Given the description of an element on the screen output the (x, y) to click on. 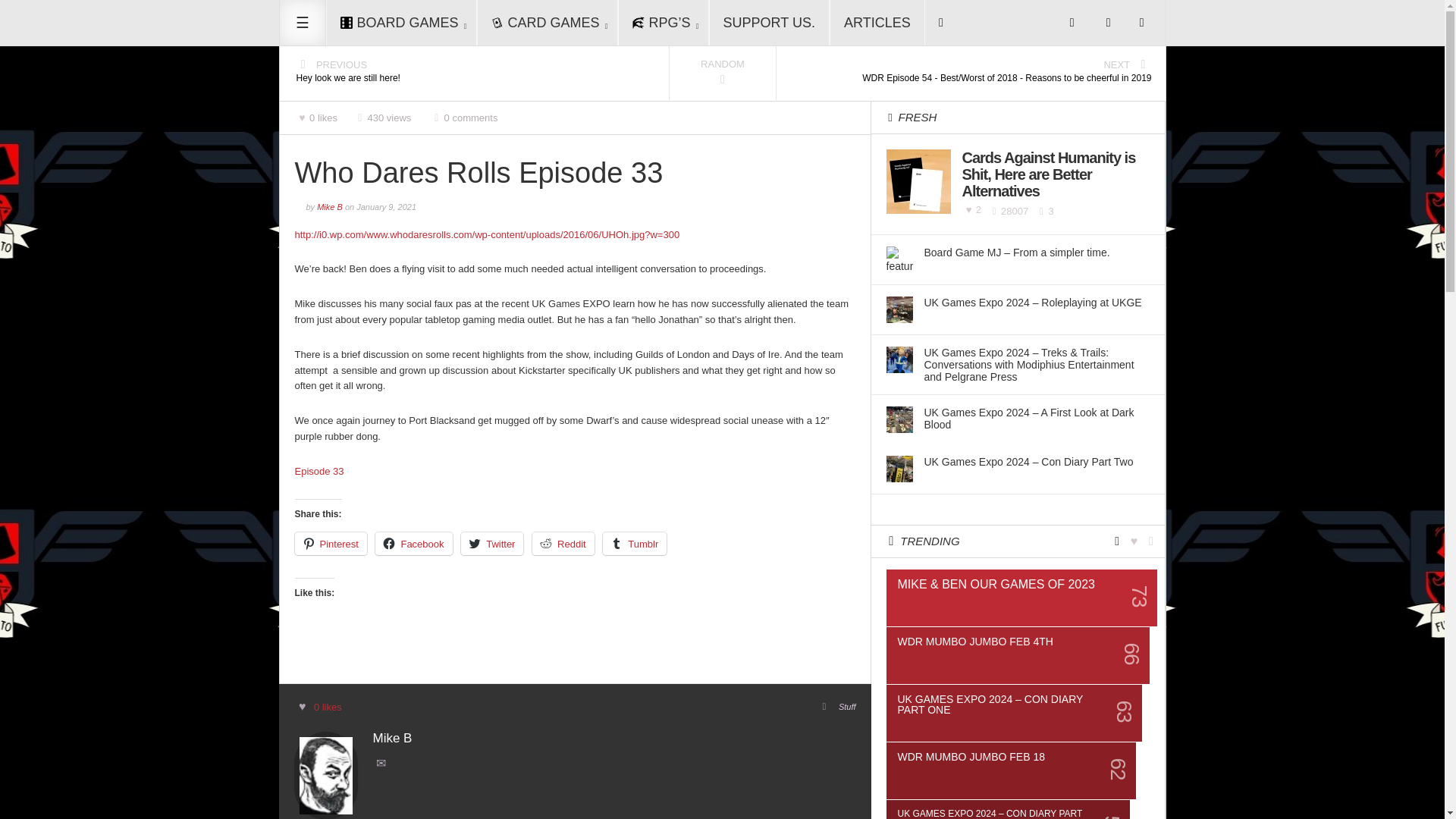
CARD GAMES (547, 22)
BOARD GAMES (401, 22)
